Given the description of an element on the screen output the (x, y) to click on. 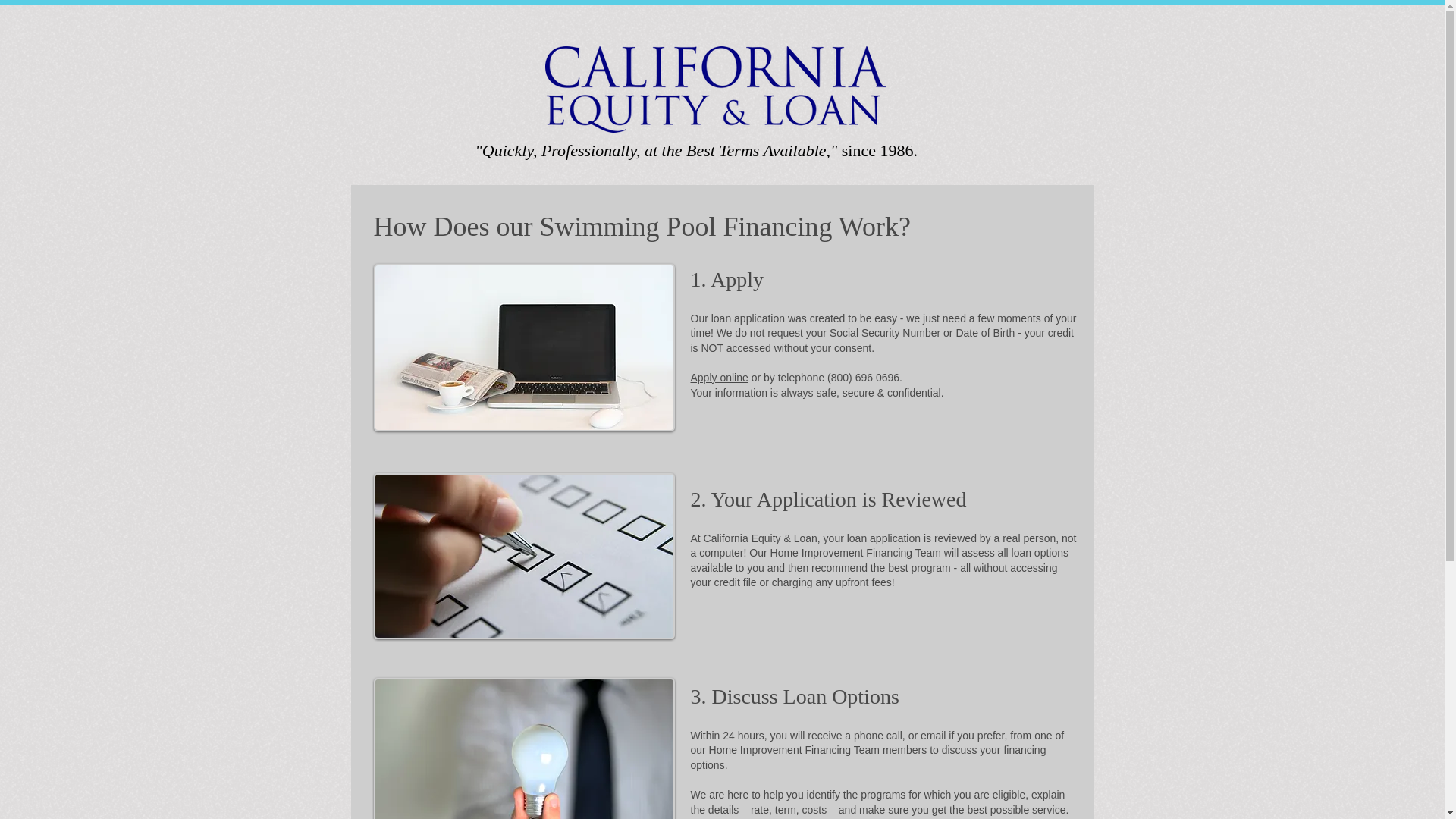
Apply online (719, 377)
Checklist  (523, 556)
